Given the description of an element on the screen output the (x, y) to click on. 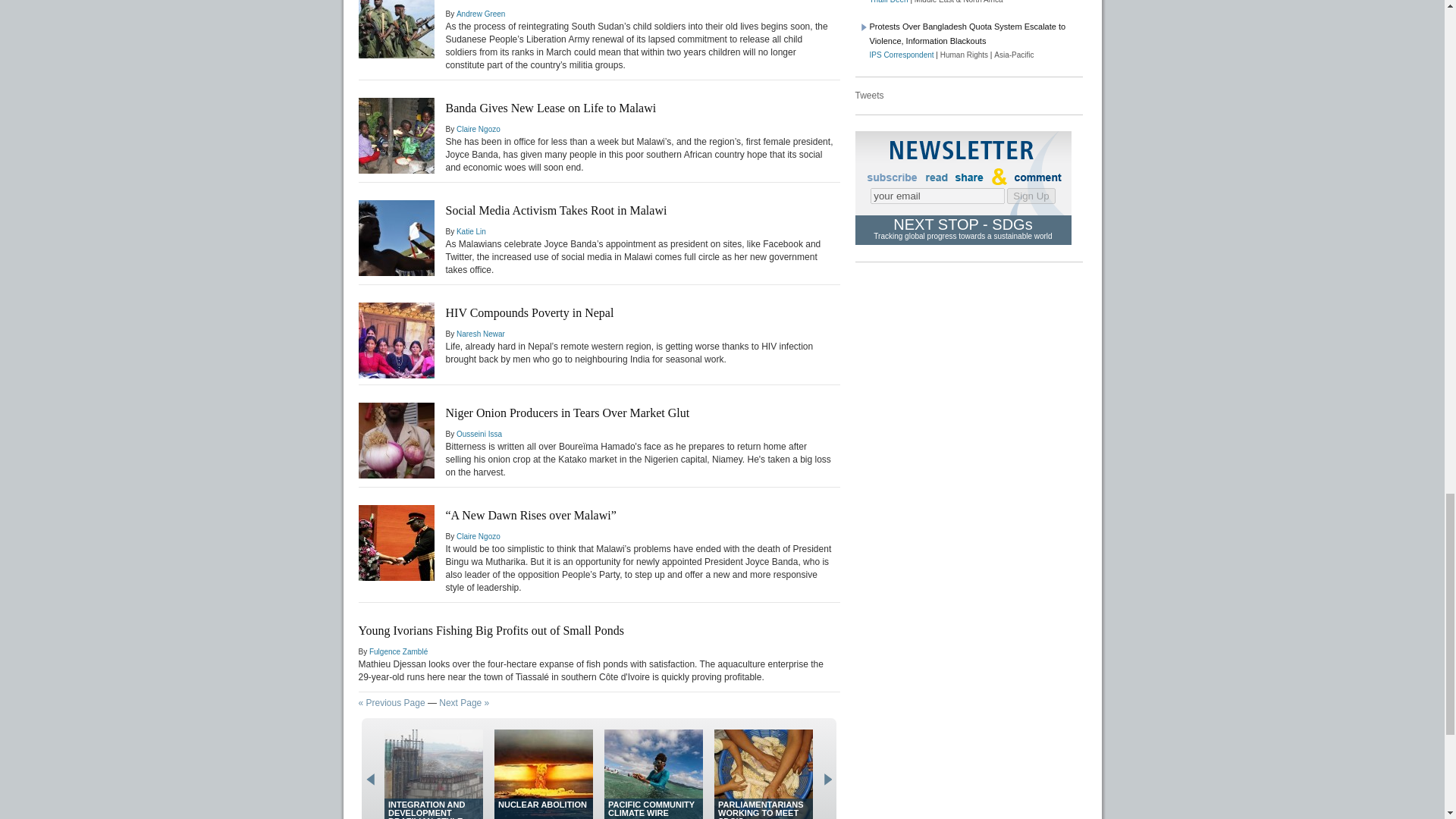
your email (937, 195)
Sign Up (1030, 195)
